Given the description of an element on the screen output the (x, y) to click on. 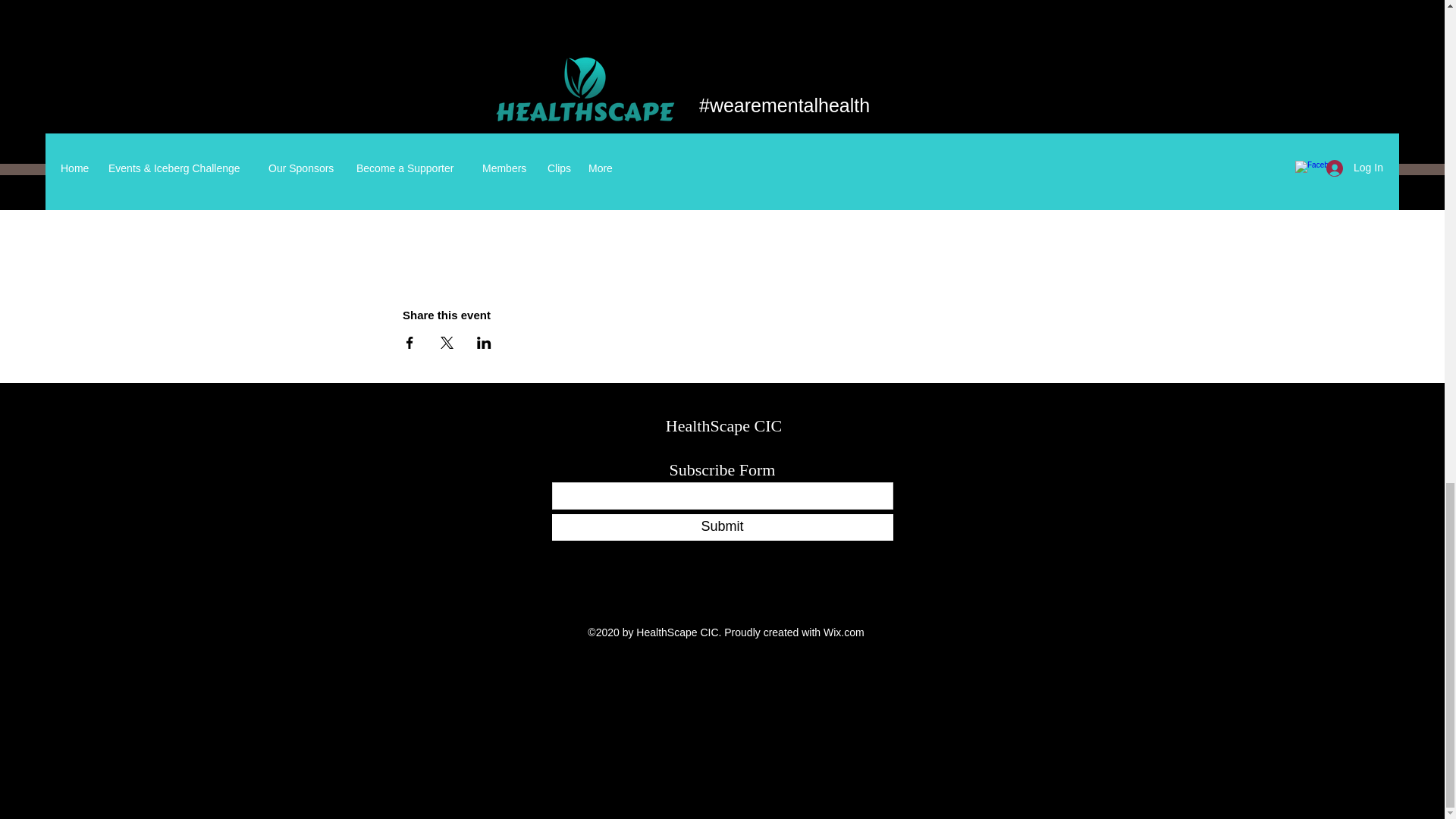
Submit (722, 527)
HealthScape CIC (723, 425)
